Given the description of an element on the screen output the (x, y) to click on. 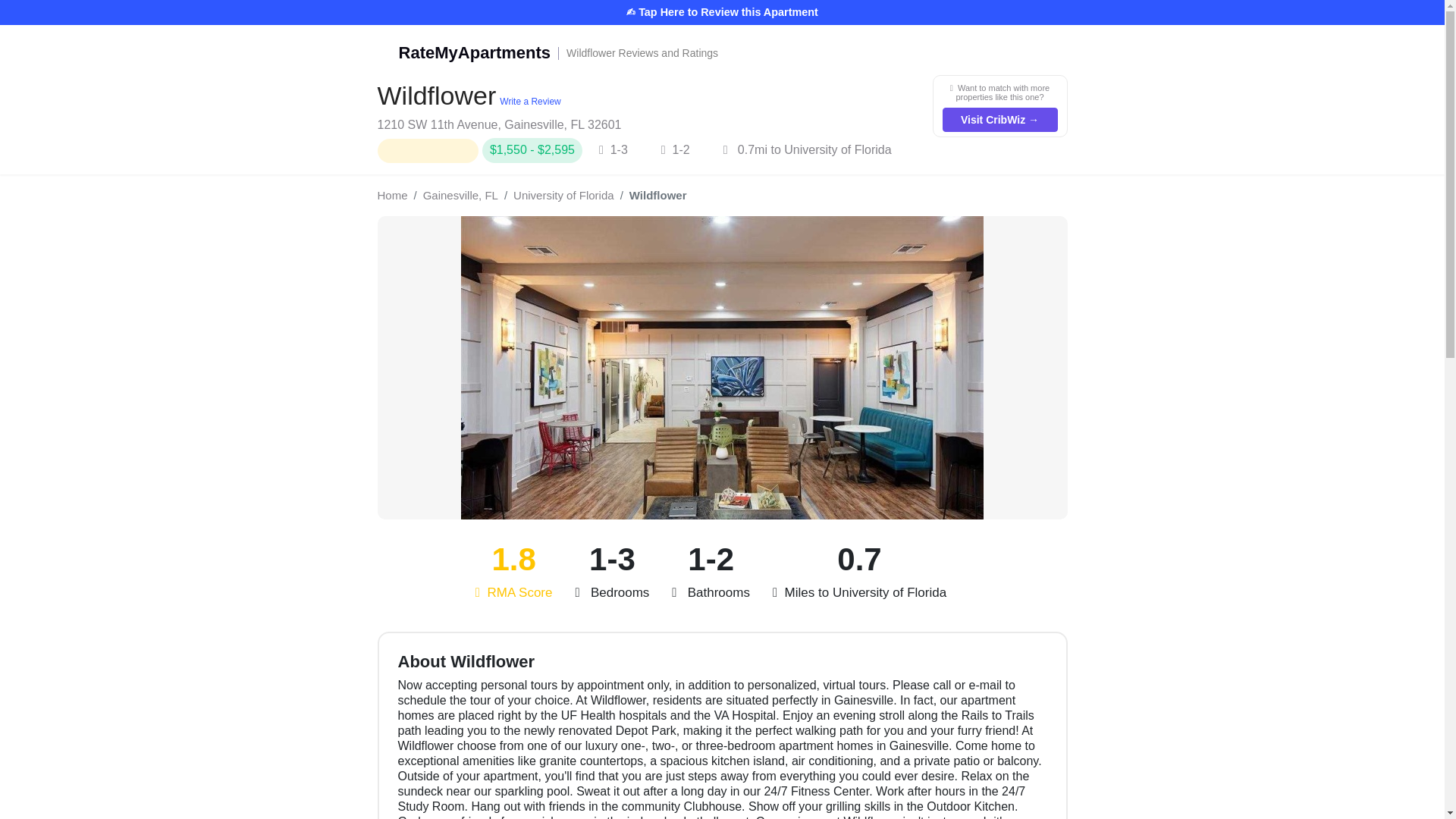
Home (392, 195)
Gainesville, FL (460, 195)
University of Florida (563, 195)
Write a Review (721, 53)
